Given the description of an element on the screen output the (x, y) to click on. 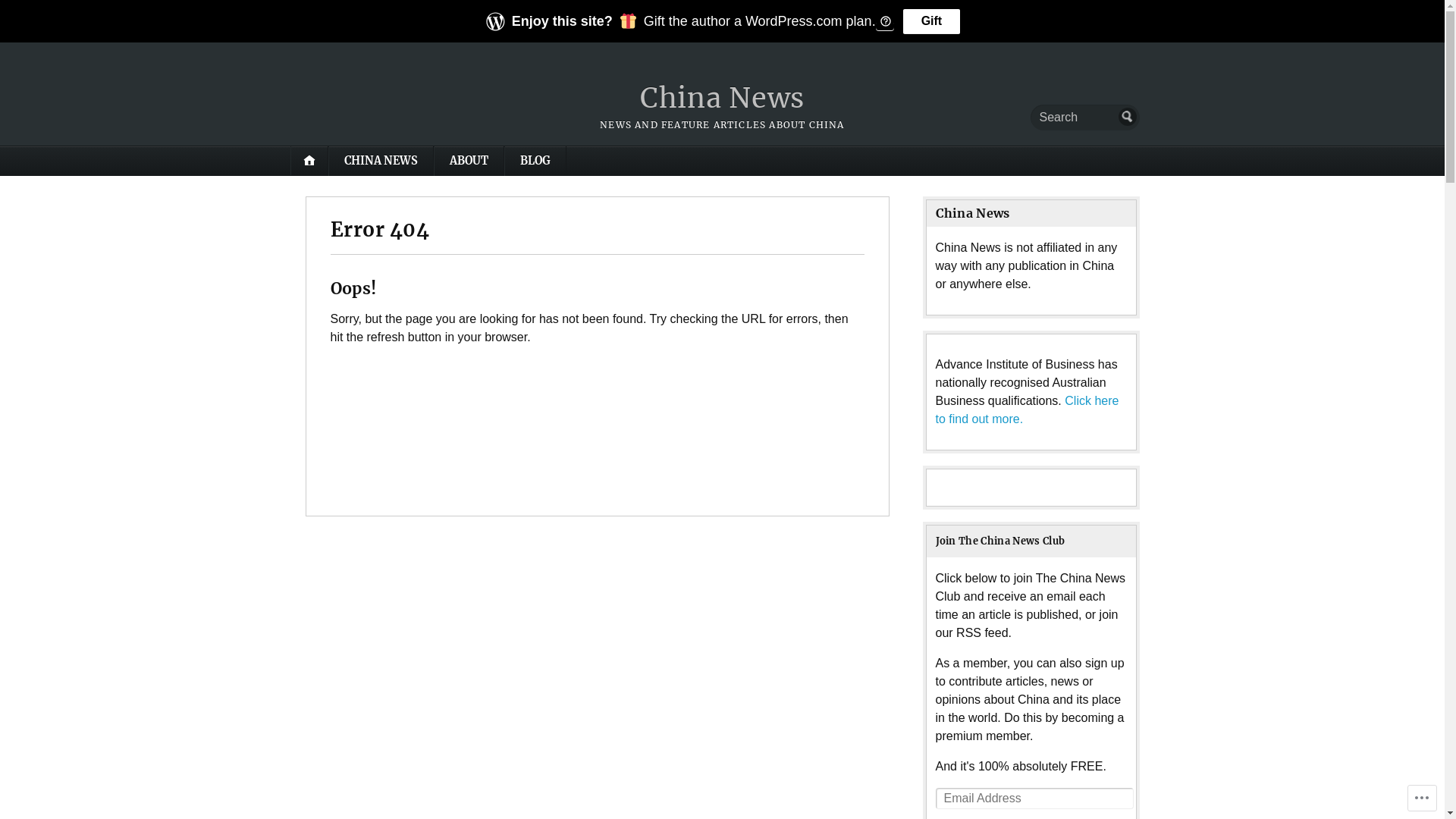
CHINA NEWS Element type: text (381, 160)
China News Element type: text (722, 98)
ABOUT Element type: text (467, 160)
Gift Element type: text (931, 21)
BLOG Element type: text (535, 160)
Click here to find out more. Element type: text (1027, 409)
